Given the description of an element on the screen output the (x, y) to click on. 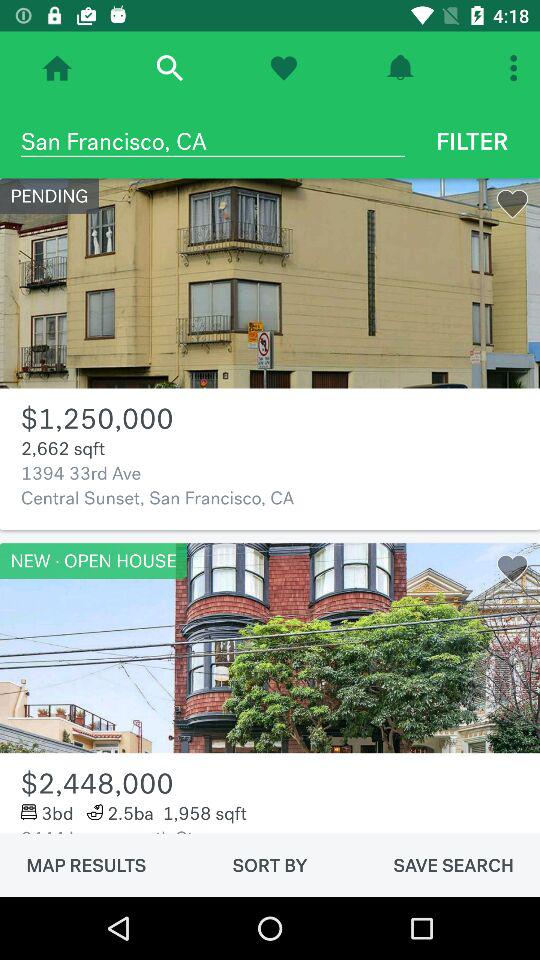
search button (169, 68)
